Given the description of an element on the screen output the (x, y) to click on. 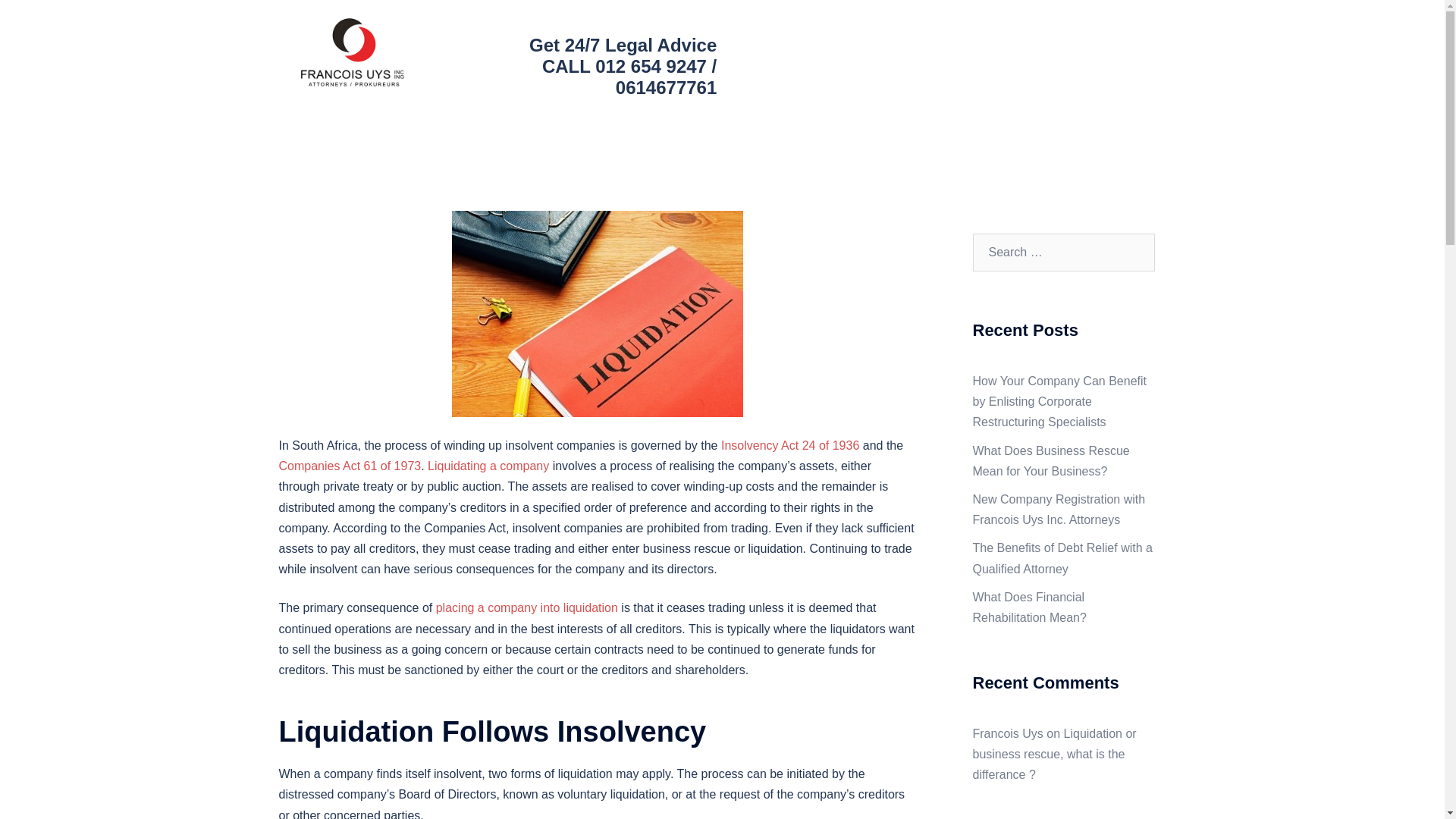
DEBT (926, 42)
Francois Uys Inc Attorneys (352, 57)
CONTACT US (1001, 73)
placing a company into liquidation (526, 607)
Search (47, 18)
HOME (790, 42)
Liquidating a company (488, 465)
FOR BUSINESS (1005, 42)
What Does Business Rescue Mean for Your Business? (1050, 460)
FOR YOU (1094, 42)
ABOUT US (859, 42)
BLOG (926, 73)
New Company Registration with Francois Uys Inc. Attorneys (1058, 509)
The Benefits of Debt Relief with a Qualified Attorney (1061, 557)
